Given the description of an element on the screen output the (x, y) to click on. 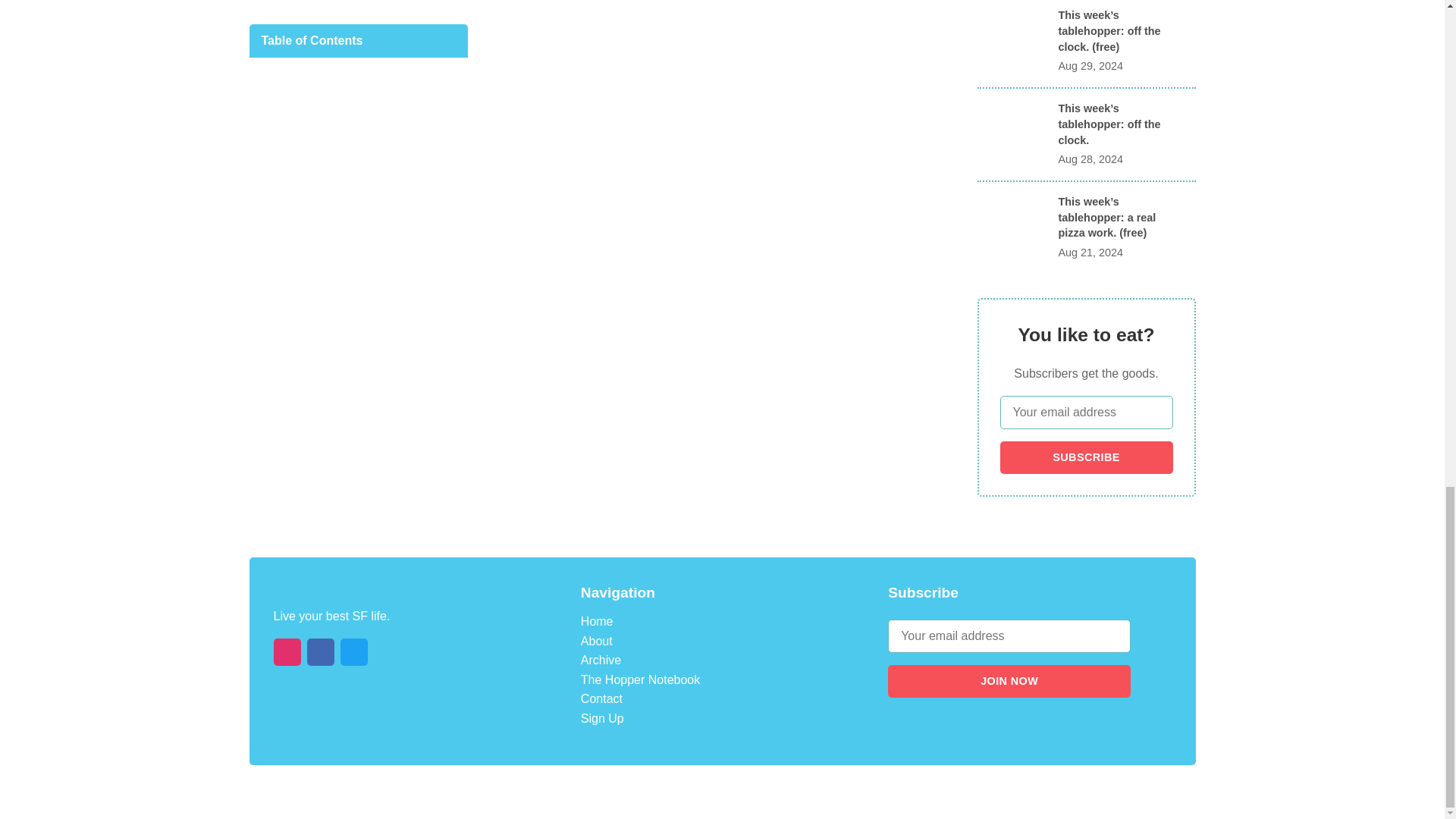
Twitter (352, 651)
Facebook (319, 651)
Instagram (286, 651)
